Given the description of an element on the screen output the (x, y) to click on. 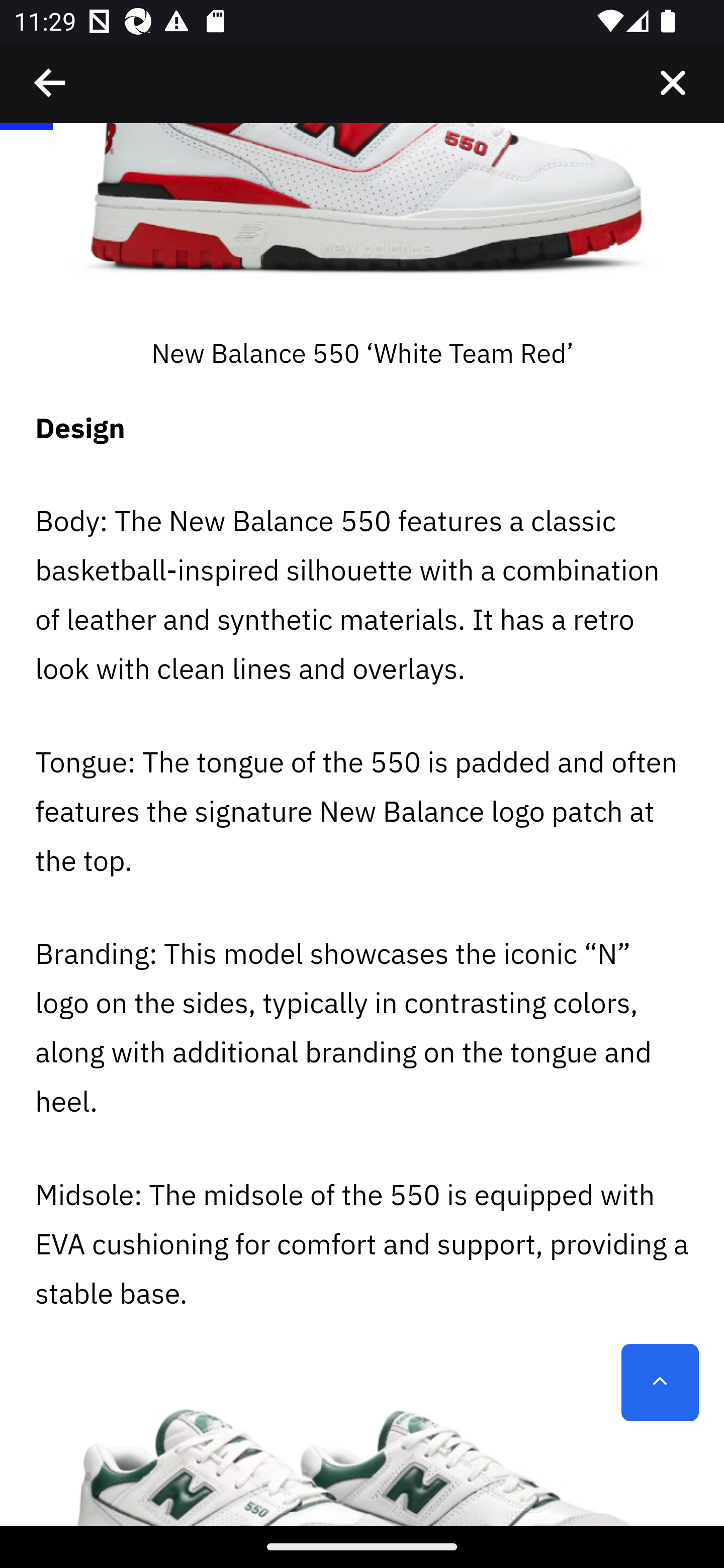
 (50, 83)
 (672, 83)
New Balance 550 'White Team Red' (361, 227)
Scroll to top  (659, 1382)
